Given the description of an element on the screen output the (x, y) to click on. 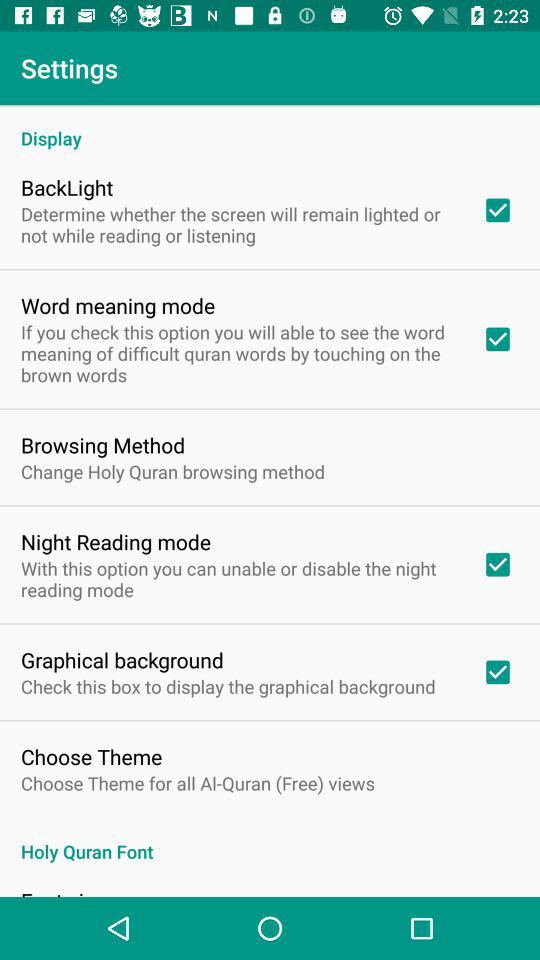
open item below the holy quran font icon (63, 891)
